Given the description of an element on the screen output the (x, y) to click on. 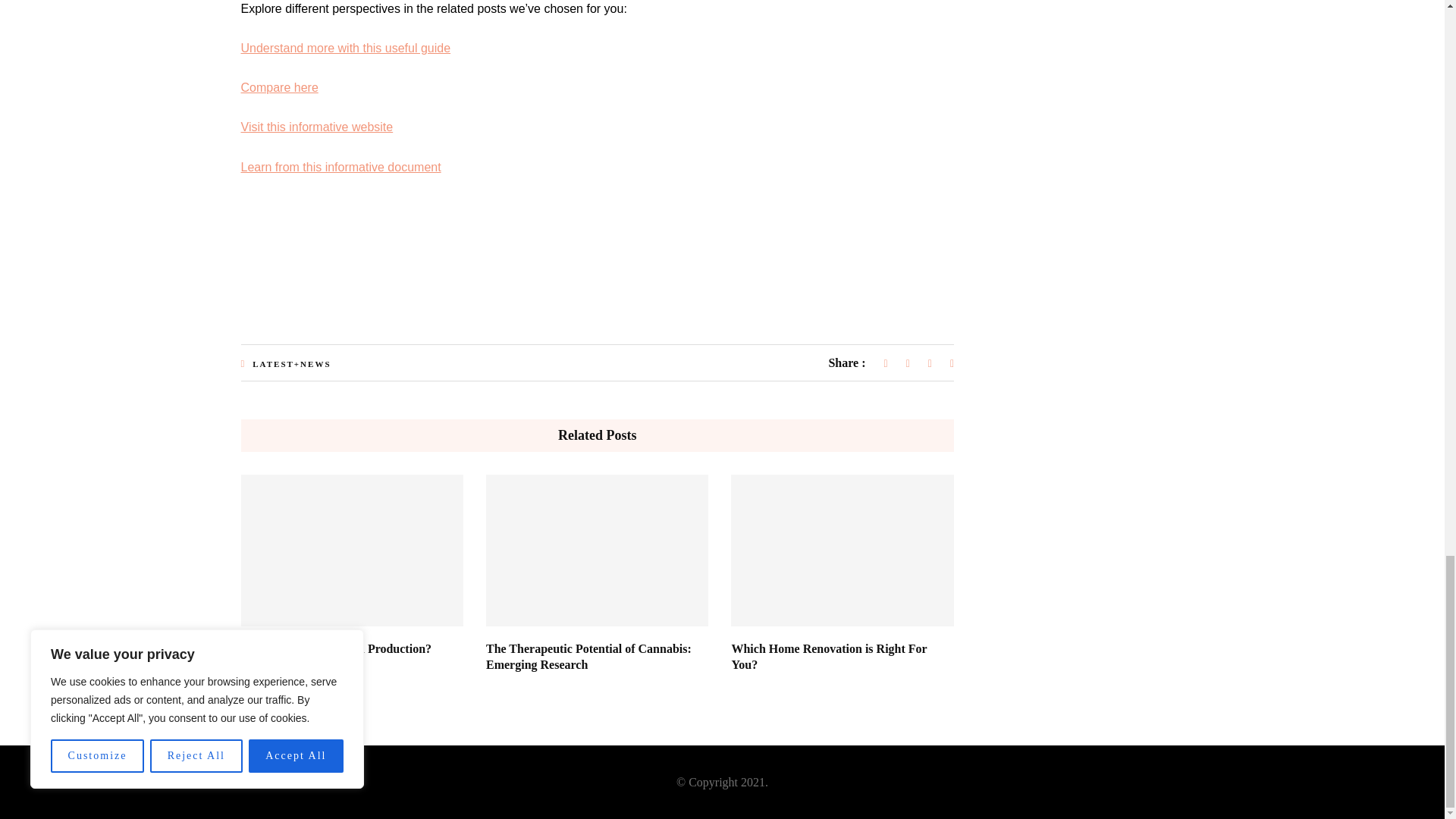
Learn from this informative document (341, 166)
The Therapeutic Potential of Cannabis: Emerging Research (588, 656)
Visit this informative website (317, 126)
Understand more with this useful guide (346, 47)
Which Home Renovation is Right For You? (828, 656)
Precisely What Is Metal Production? (336, 648)
Compare here (279, 87)
